Given the description of an element on the screen output the (x, y) to click on. 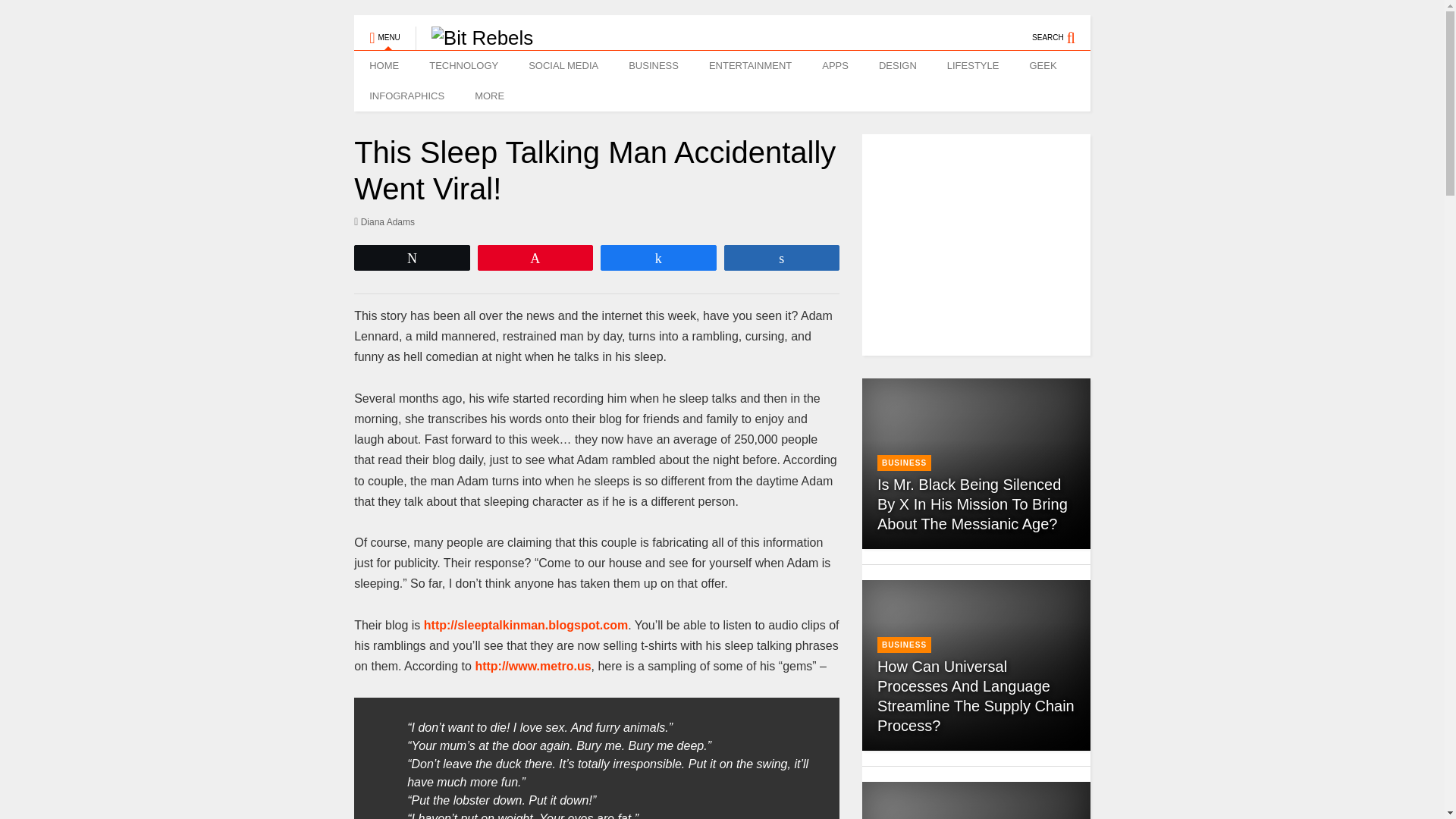
MENU (383, 30)
MORE (493, 96)
Diana Adams (383, 222)
LIFESTYLE (972, 65)
Diana Adams (383, 222)
HOME (383, 65)
DESIGN (897, 65)
ENTERTAINMENT (750, 65)
INFOGRAPHICS (406, 96)
